Given the description of an element on the screen output the (x, y) to click on. 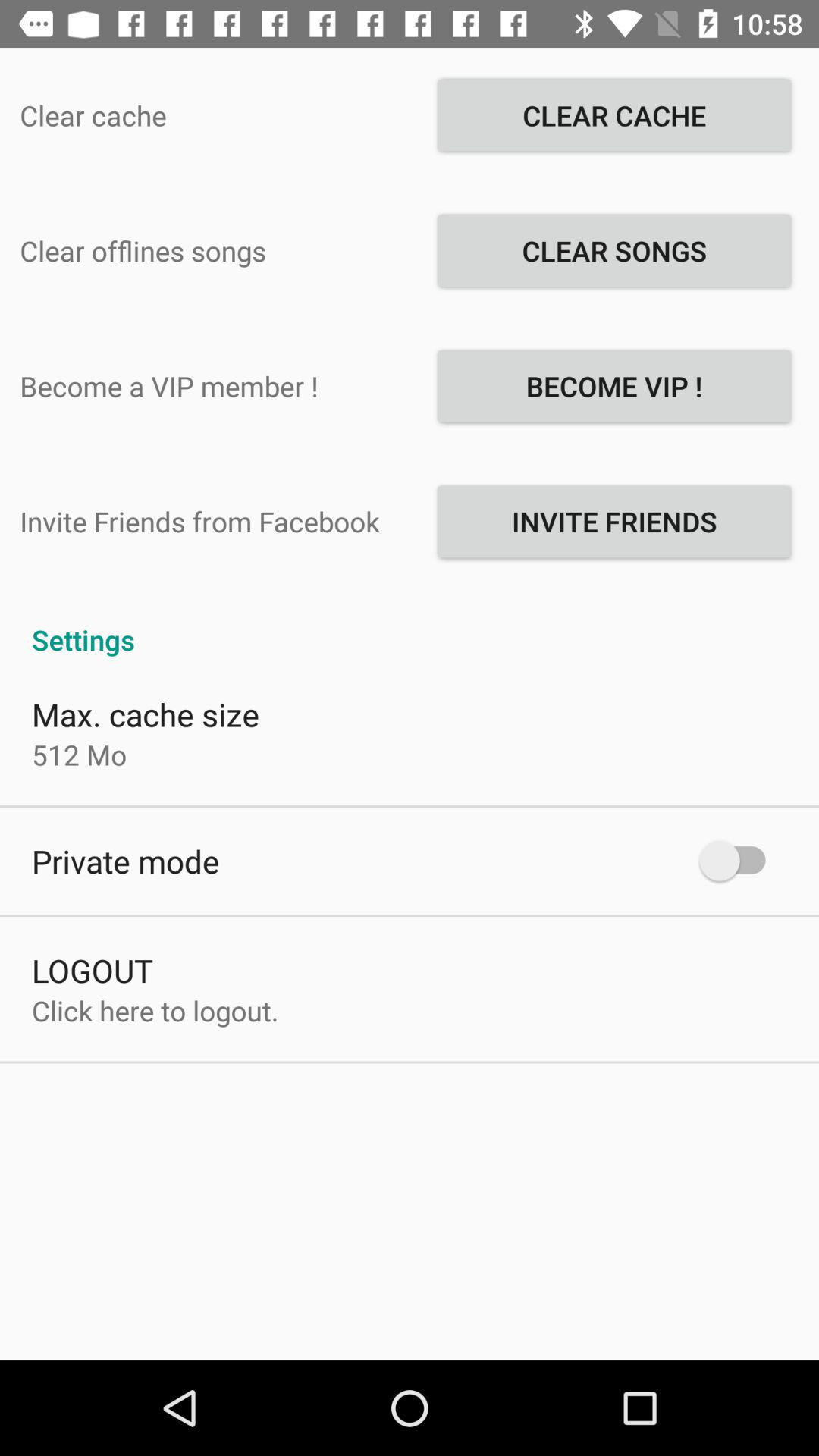
press the app next to private mode icon (739, 860)
